Given the description of an element on the screen output the (x, y) to click on. 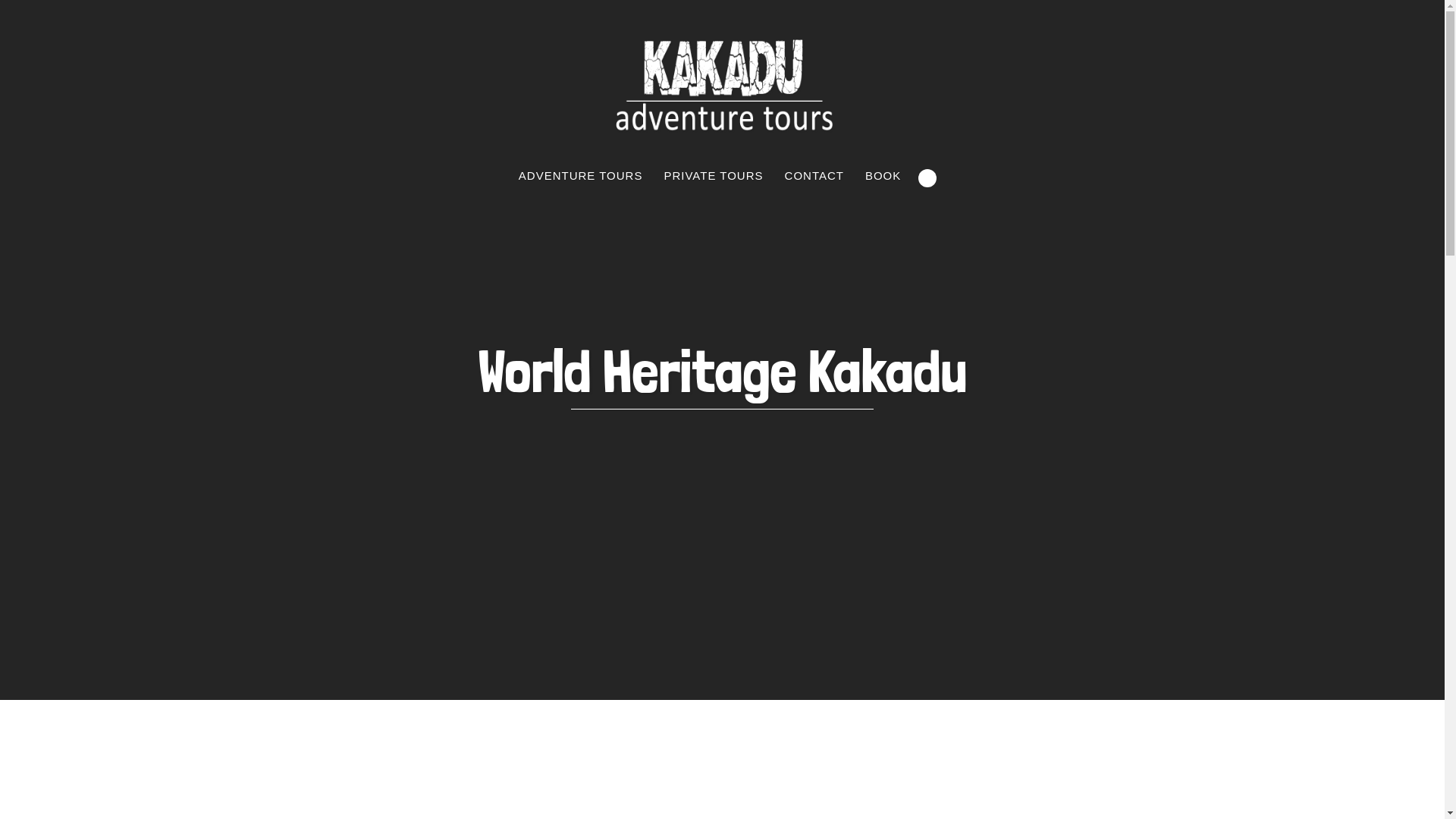
ADVENTURE TOURS Element type: text (580, 175)
PRIVATE TOURS Element type: text (712, 175)
BOOK Element type: text (882, 175)
Search Element type: text (927, 178)
CONTACT Element type: text (814, 175)
